Given the description of an element on the screen output the (x, y) to click on. 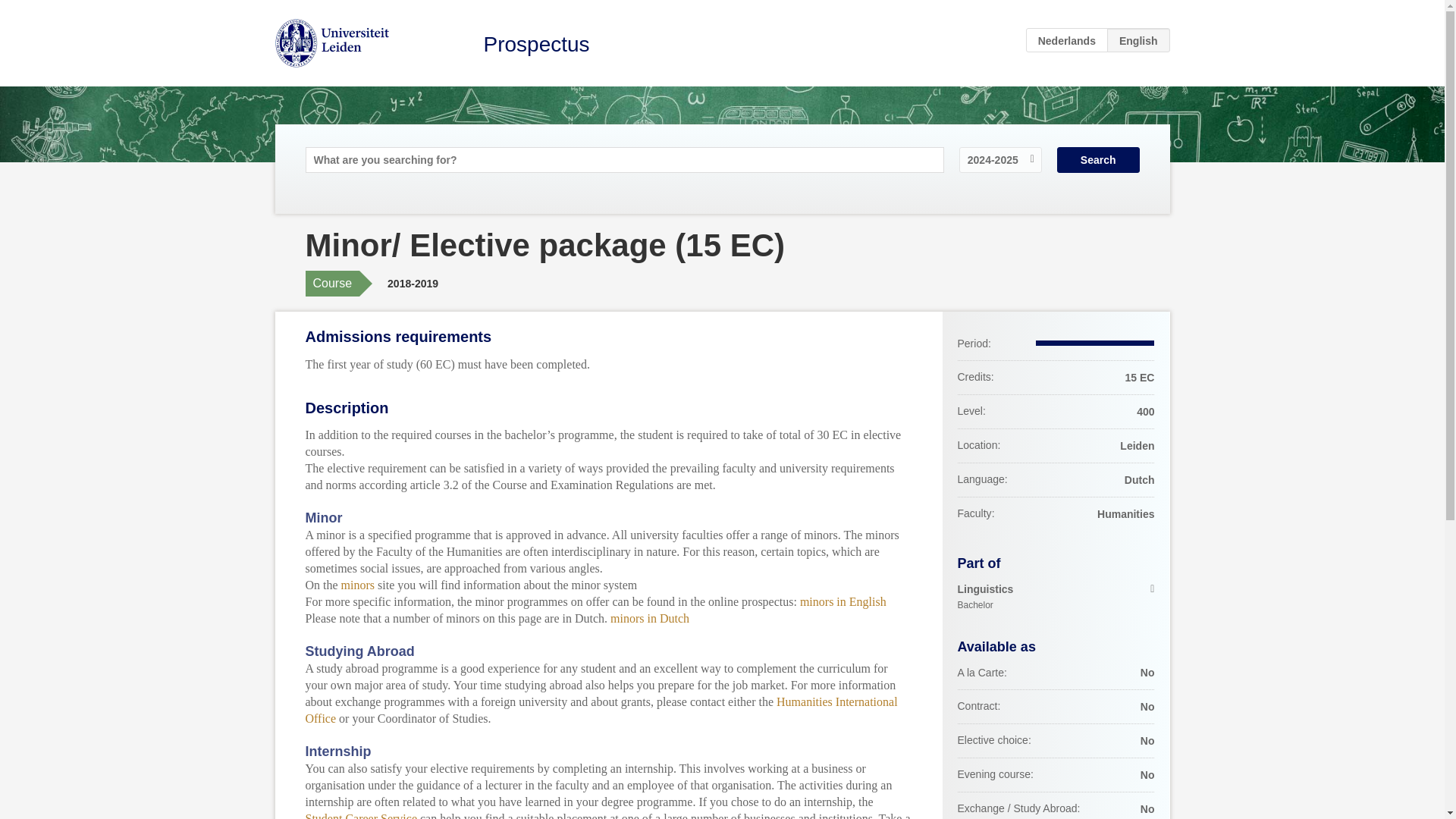
Prospectus (536, 44)
Student Career Service (360, 815)
minors in English (842, 601)
Search (1098, 159)
minors in Dutch (649, 617)
NL (1067, 39)
minors (357, 584)
Humanities International Office (1055, 597)
